Given the description of an element on the screen output the (x, y) to click on. 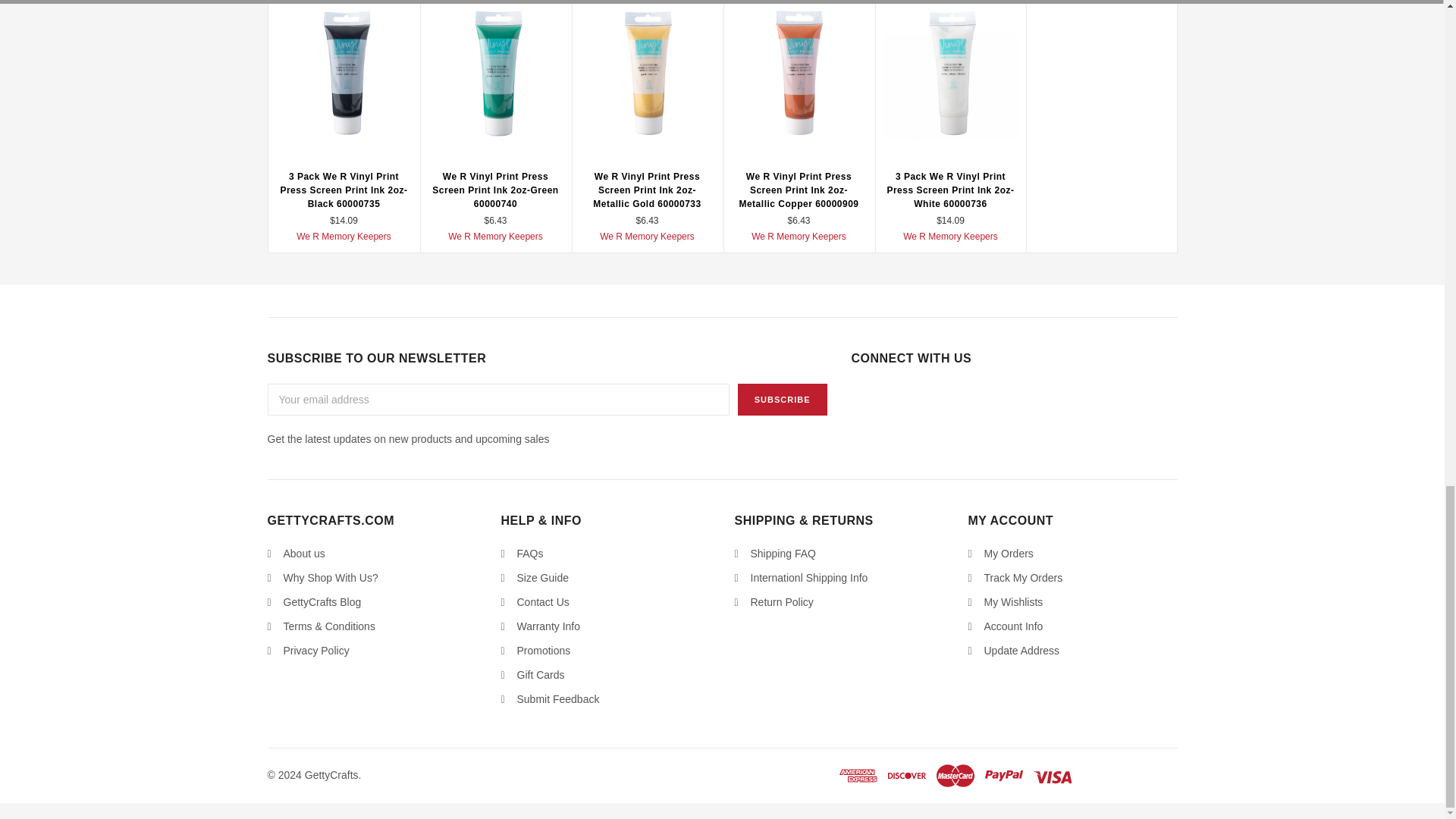
Subscribe (782, 399)
